Given the description of an element on the screen output the (x, y) to click on. 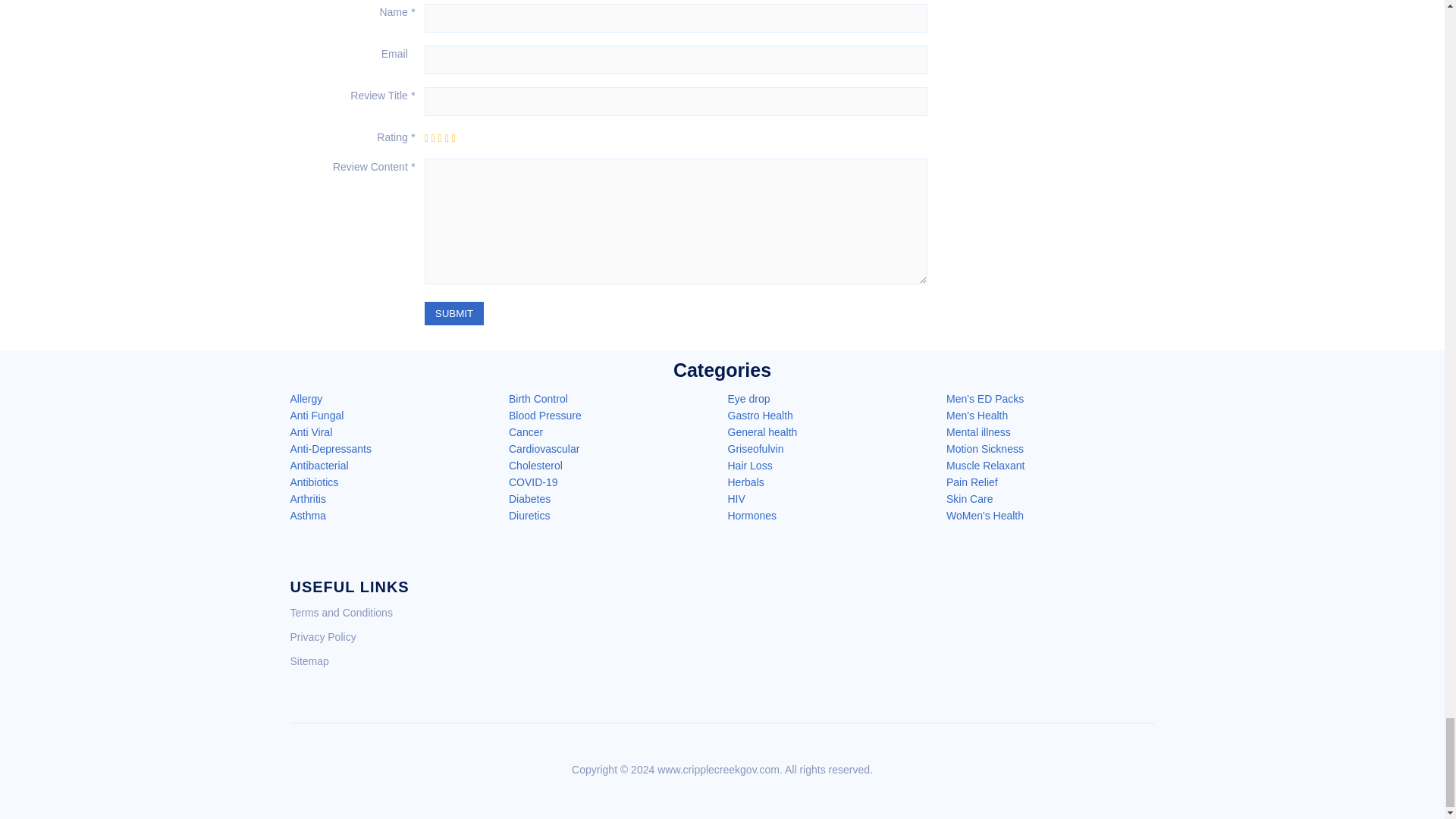
Blood Pressure (544, 415)
Cholesterol (535, 465)
Cardiovascular (543, 449)
Gastro Health (760, 415)
Birth Control (537, 398)
Anti Viral (310, 431)
Submit (454, 313)
Arthritis (306, 499)
Eye drop (749, 398)
Submit (454, 313)
Anti-Depressants (330, 449)
Allergy (305, 398)
Antibacterial (318, 465)
Antibiotics (313, 481)
COVID-19 (532, 481)
